Given the description of an element on the screen output the (x, y) to click on. 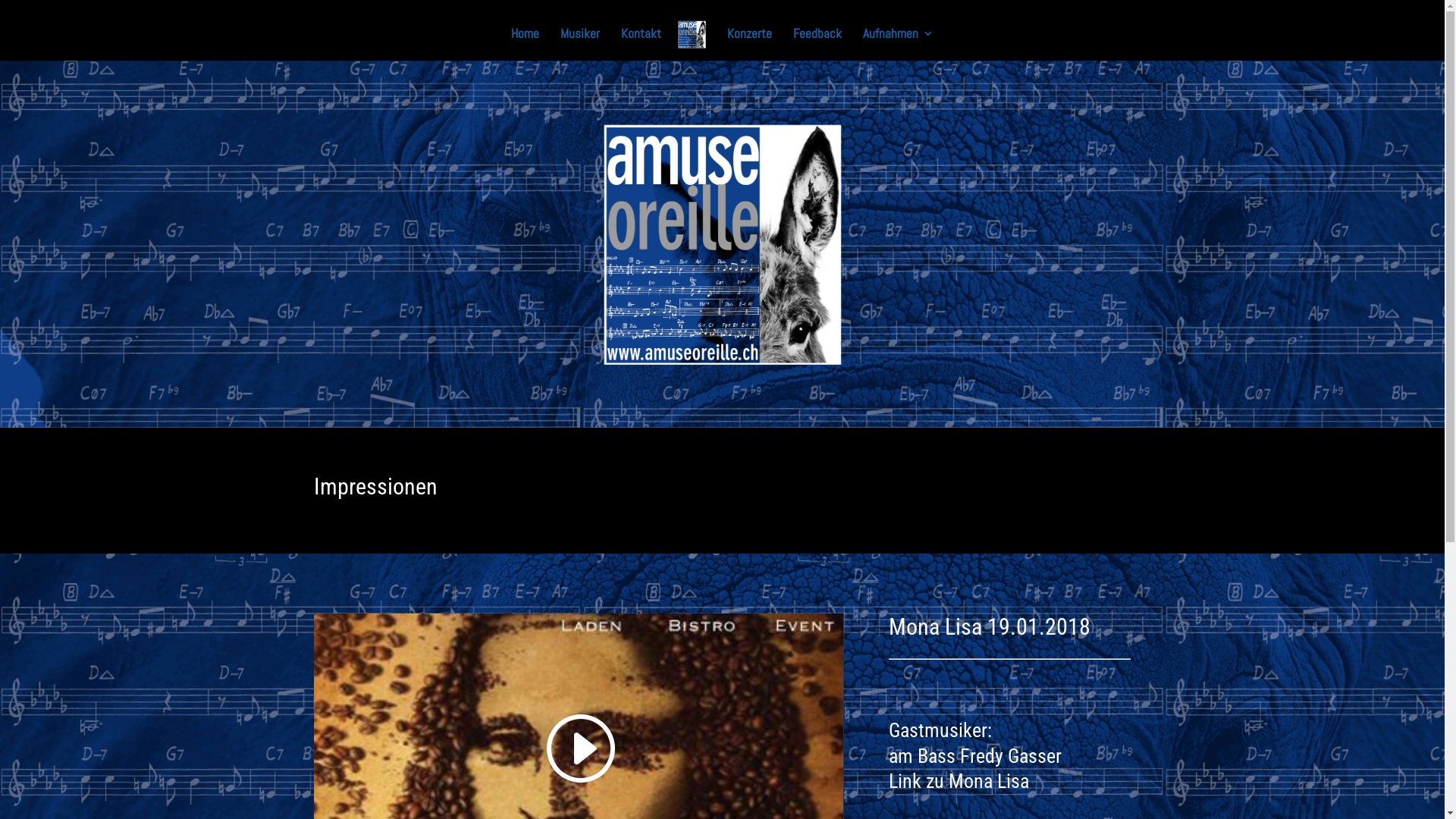
Feedback Element type: text (817, 44)
Link zu Mona Lisa Element type: text (958, 780)
Home Element type: text (525, 44)
Musiker Element type: text (579, 44)
Kontakt Element type: text (641, 44)
Konzerte Element type: text (749, 44)
Aufnahmen Element type: text (897, 44)
